Given the description of an element on the screen output the (x, y) to click on. 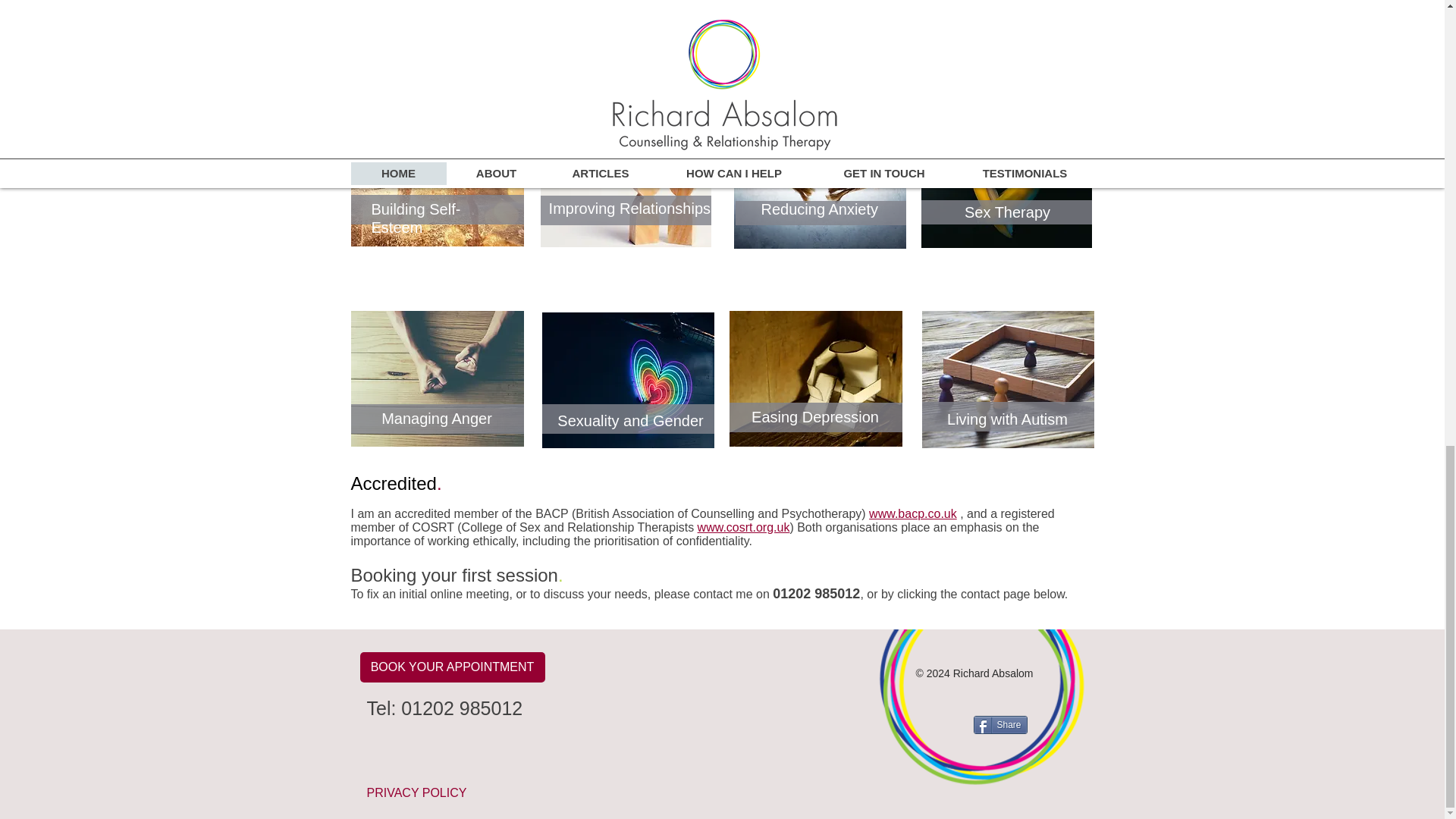
Managing Anger (436, 418)
Reducing Anxiety (820, 208)
Easing Depression (815, 416)
Living with Autism (1007, 419)
BOOK YOUR APPOINTMENT (451, 666)
PRIVACY POLICY (416, 792)
Share (1000, 724)
Sexuality and Gender (630, 420)
Counselling for Autism Poolle (1007, 379)
Share (1000, 724)
Sex Therapy (1006, 211)
Find out how counselling can build self esteem (436, 178)
Building Self-Esteem (416, 217)
Therapy to support your relationships (625, 179)
www.bacp.co.uk (912, 513)
